Given the description of an element on the screen output the (x, y) to click on. 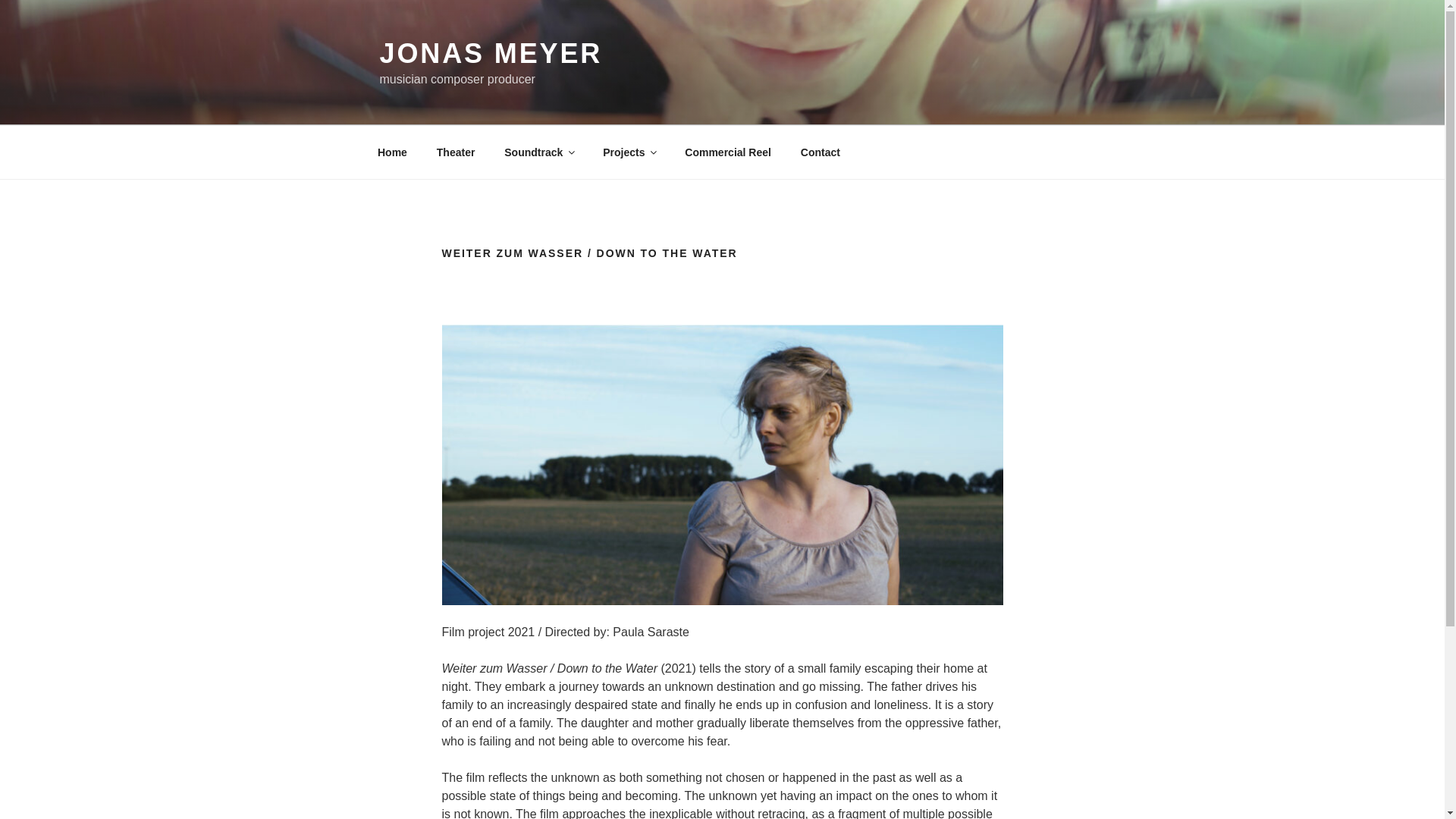
Commercial Reel (727, 151)
Contact (820, 151)
Projects (628, 151)
Soundtrack (539, 151)
JONAS MEYER (490, 52)
Home (392, 151)
Theater (455, 151)
